Given the description of an element on the screen output the (x, y) to click on. 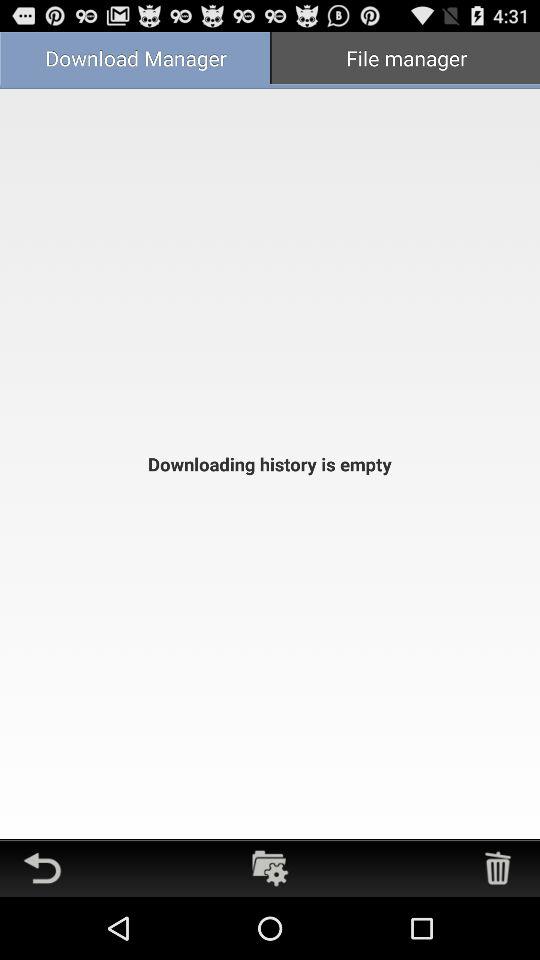
choose the file manager icon (405, 60)
